Given the description of an element on the screen output the (x, y) to click on. 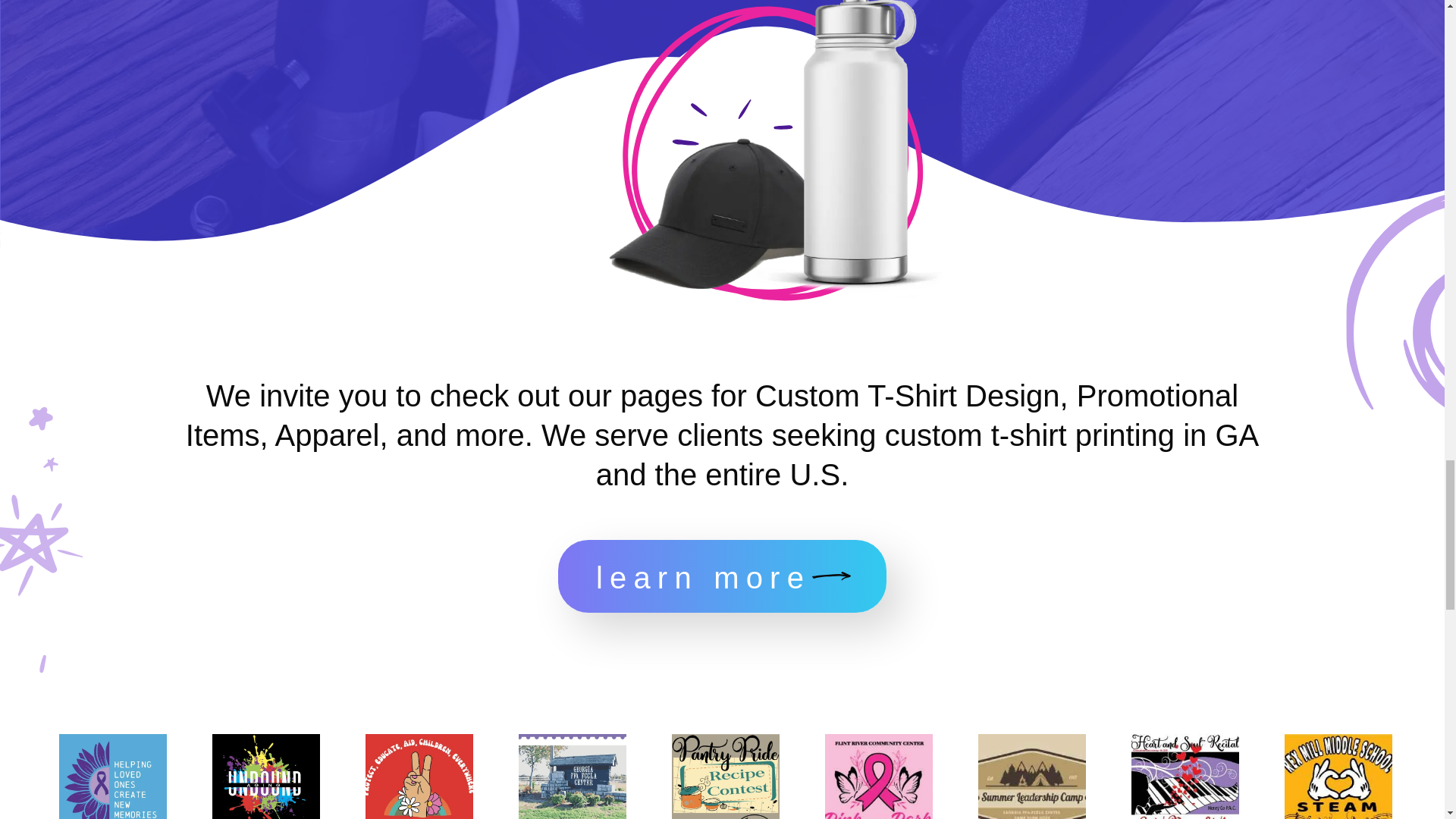
learn more (721, 576)
